Given the description of an element on the screen output the (x, y) to click on. 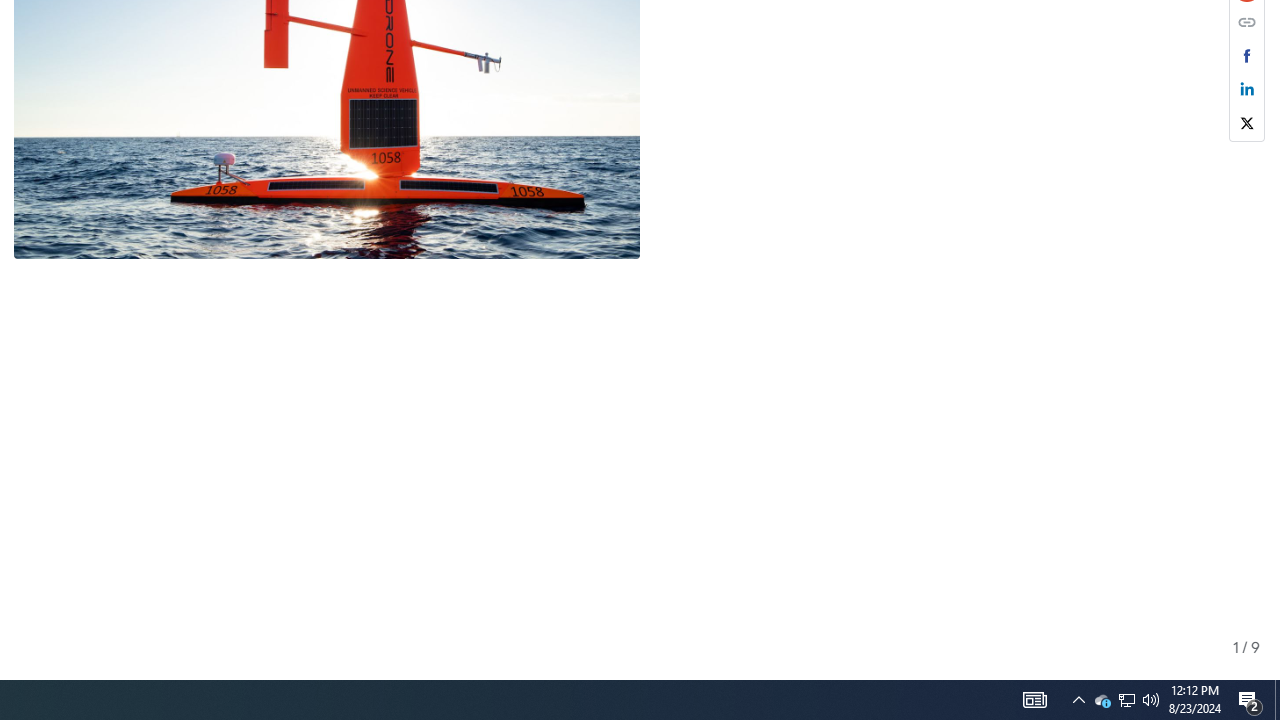
Notification Chevron (1078, 699)
Action Center, 2 new notifications (1250, 699)
User Promoted Notification Area (1126, 699)
Q2790: 100% (1102, 699)
AutomationID: 4105 (1126, 699)
Show desktop (1151, 699)
